Given the description of an element on the screen output the (x, y) to click on. 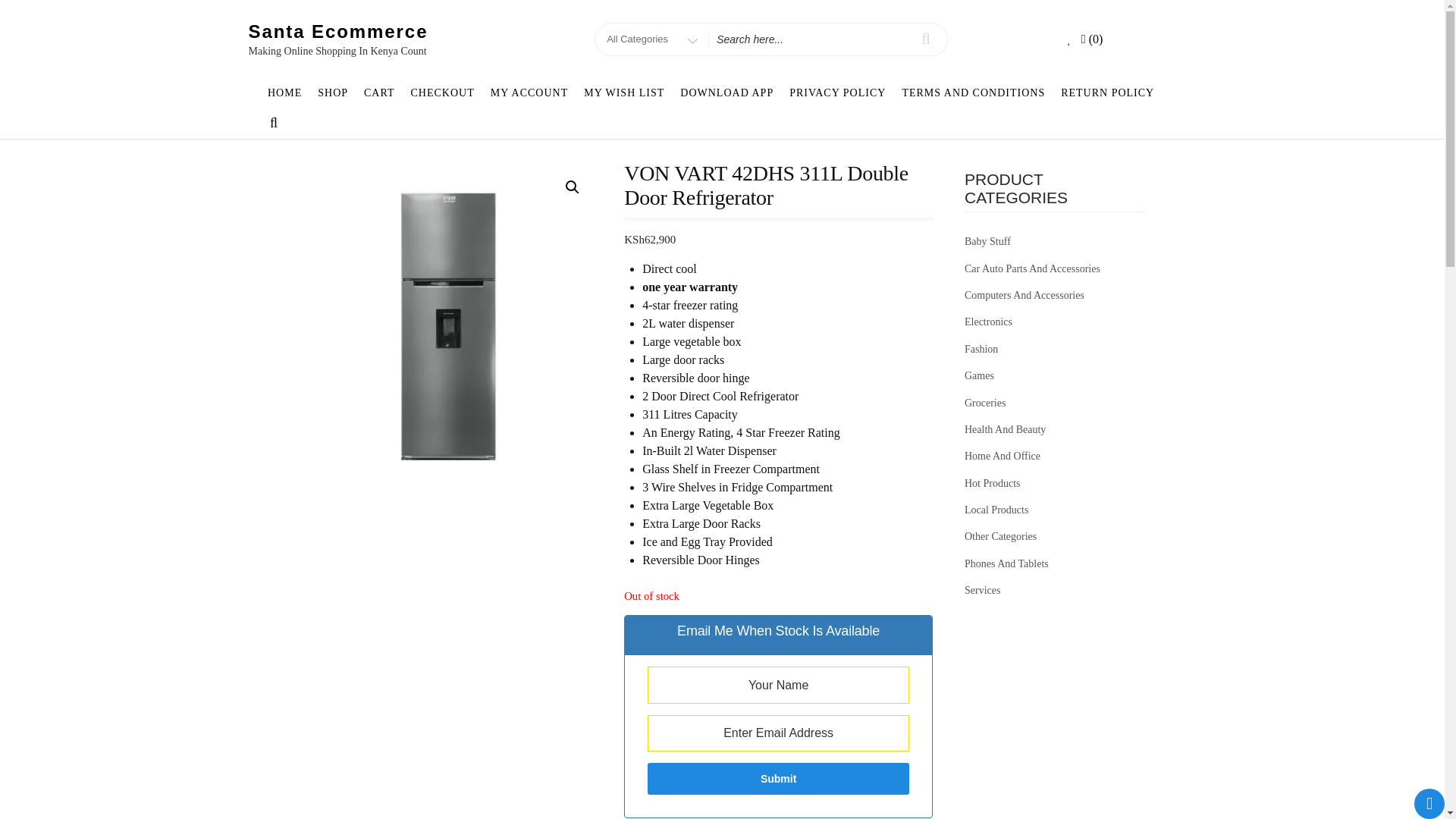
Santa Ecommerce (338, 31)
MY ACCOUNT (528, 92)
Cart View (1093, 38)
PRIVACY POLICY (837, 92)
Submit (777, 778)
RETURN POLICY (1106, 92)
MY WISH LIST (624, 92)
CHECKOUT (442, 92)
EDITING (443, 323)
CART (379, 92)
